Given the description of an element on the screen output the (x, y) to click on. 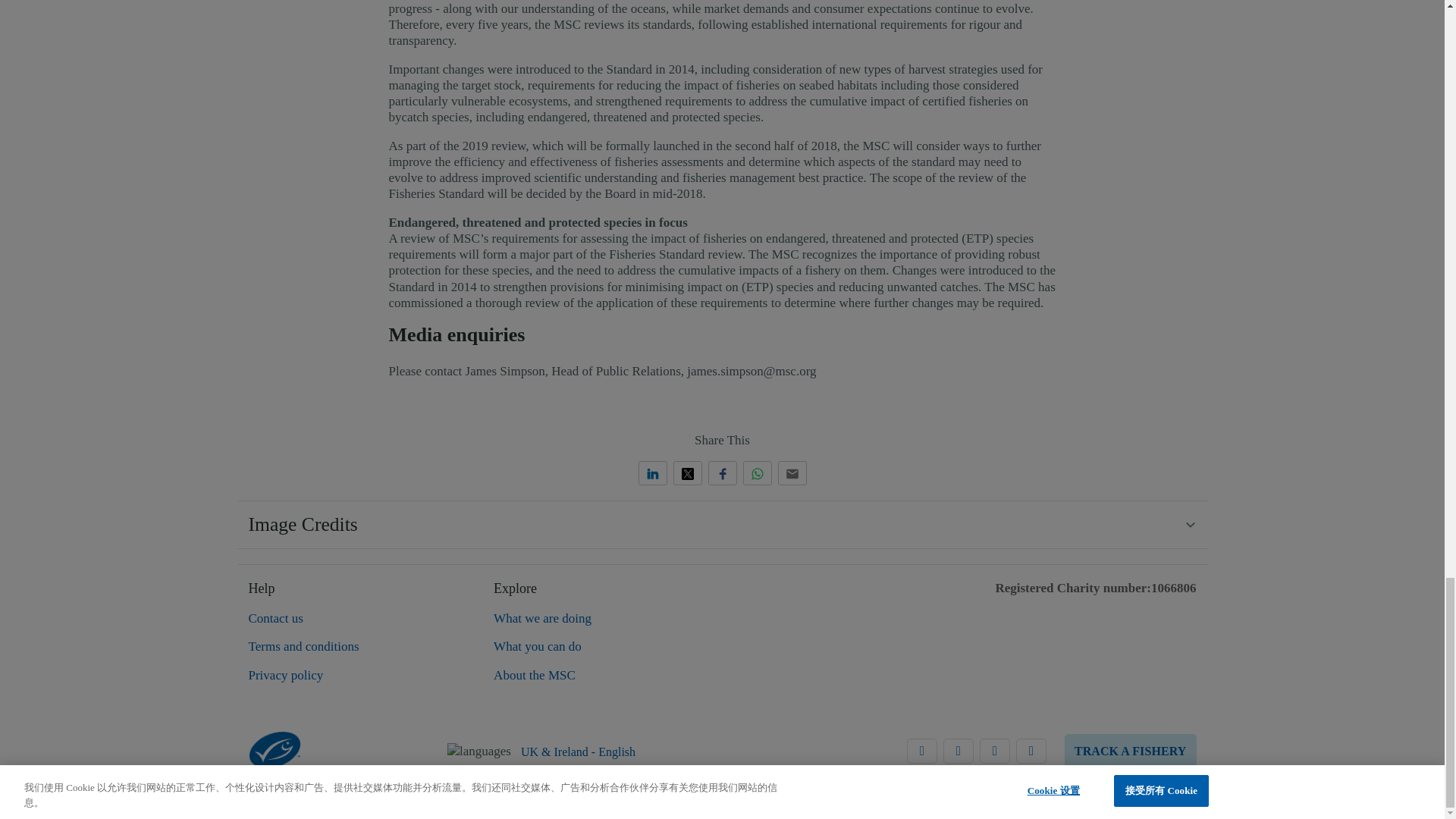
LinkedIn (922, 750)
Instagram (1031, 750)
Facebook (994, 750)
Twitter (958, 750)
